Given the description of an element on the screen output the (x, y) to click on. 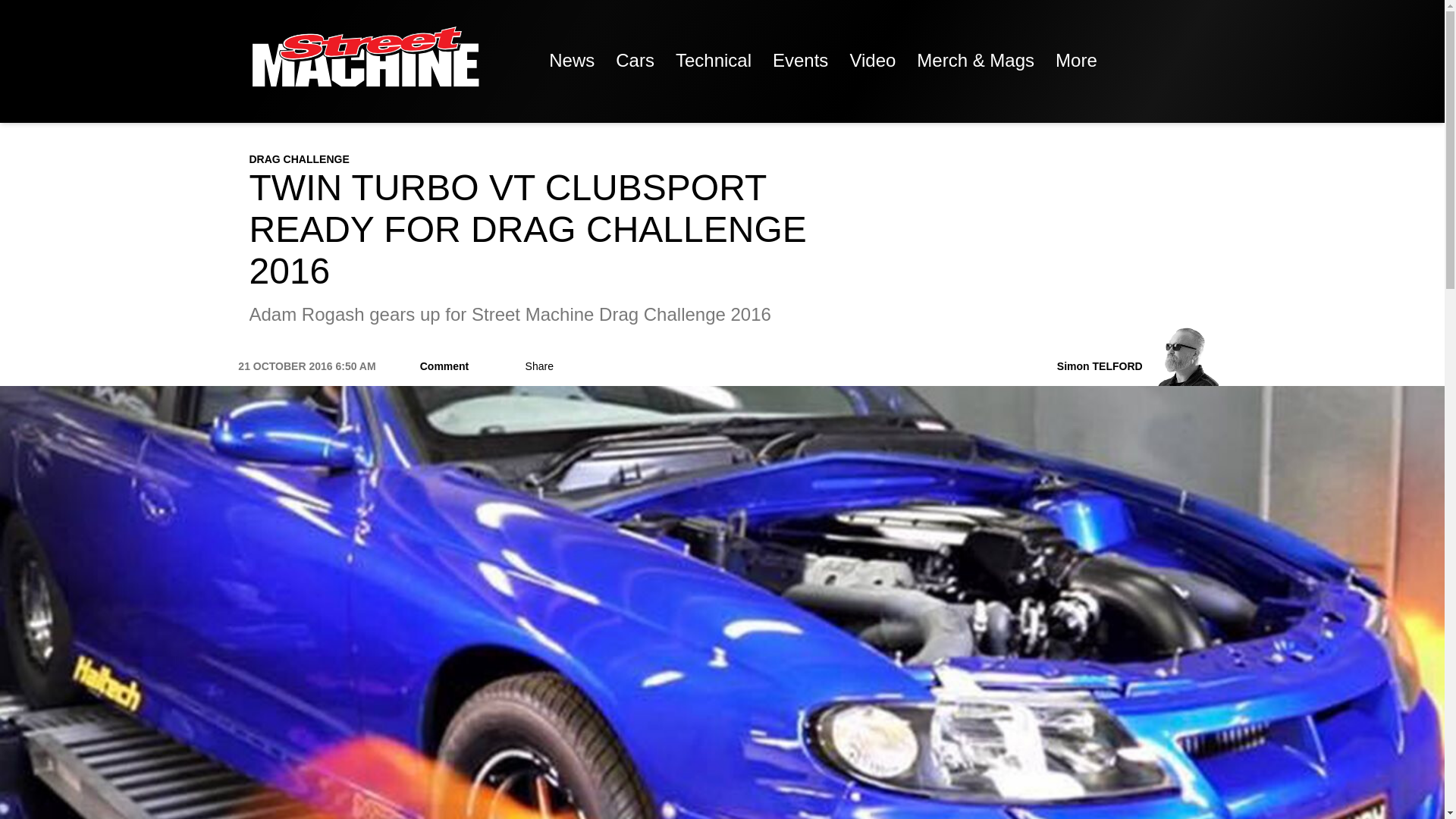
Events (799, 61)
Video (871, 61)
Cars (635, 61)
Technical (713, 61)
News (571, 61)
